Given the description of an element on the screen output the (x, y) to click on. 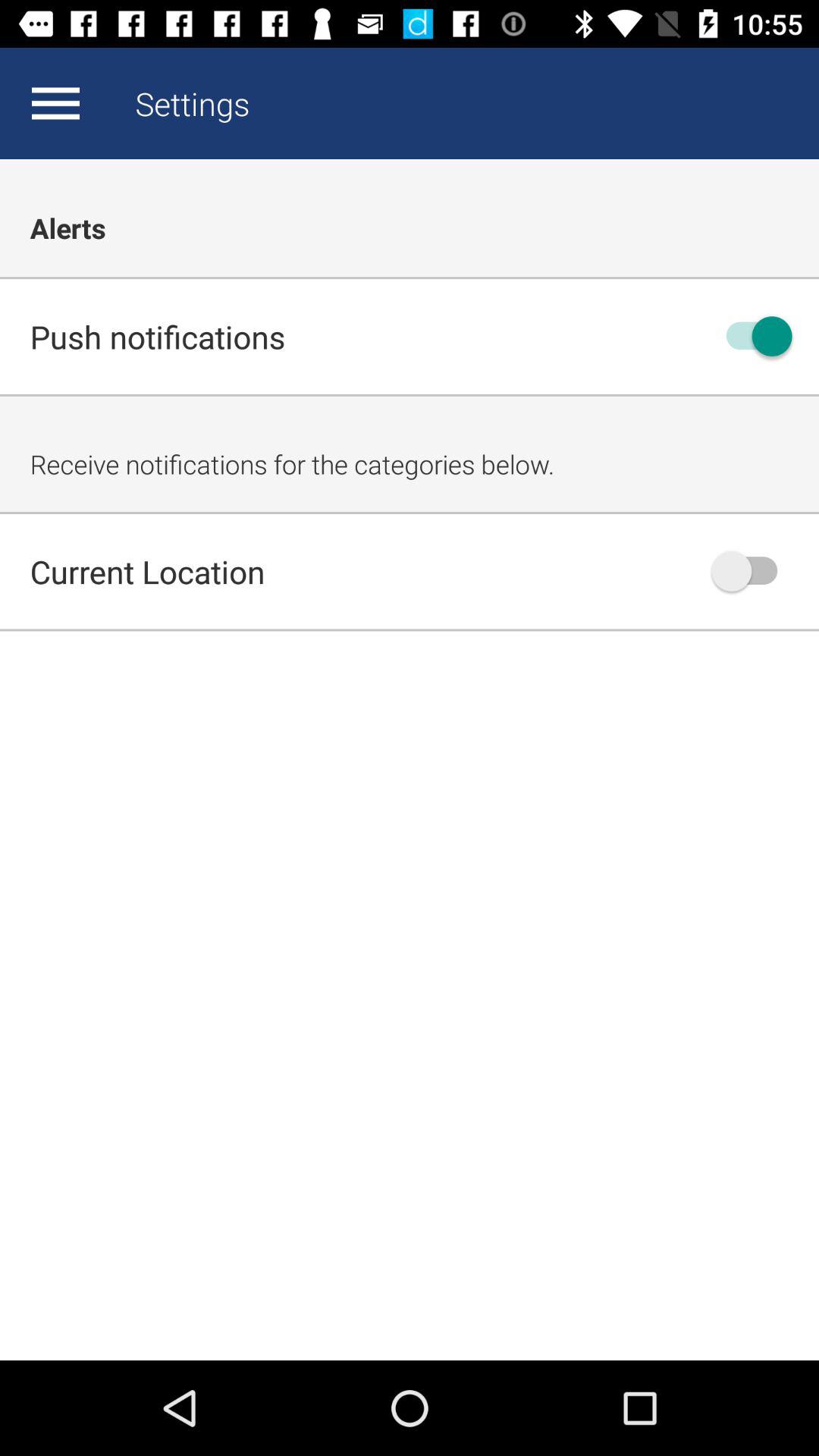
toggle current location notifications (751, 571)
